Given the description of an element on the screen output the (x, y) to click on. 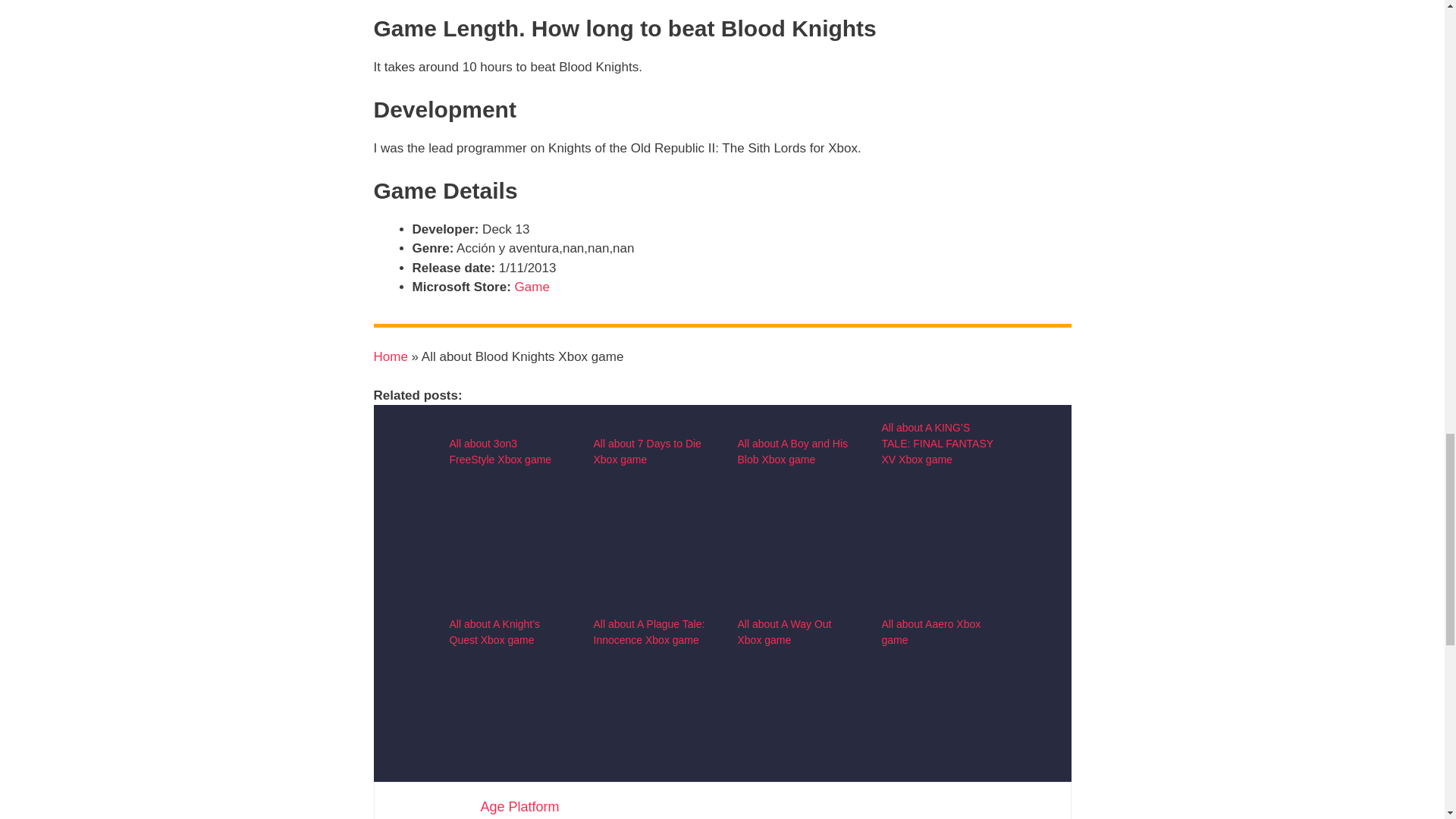
All about A Way Out Xbox game (783, 632)
All about A Plague Tale: Innocence Xbox game (649, 785)
All about A Plague Tale: Innocence Xbox game (648, 632)
Age Platform (519, 806)
All about 3on3 FreeStyle Xbox game (499, 451)
All about A Way Out Xbox game (793, 785)
All about A Knight's Quest Xbox game (505, 785)
Game (532, 287)
All about A Boy and His Blob Xbox game (791, 451)
Home (389, 355)
All about Aaero Xbox game (929, 632)
All about 7 Days to Die Xbox game (646, 451)
All about Aaero Xbox game (937, 785)
